Given the description of an element on the screen output the (x, y) to click on. 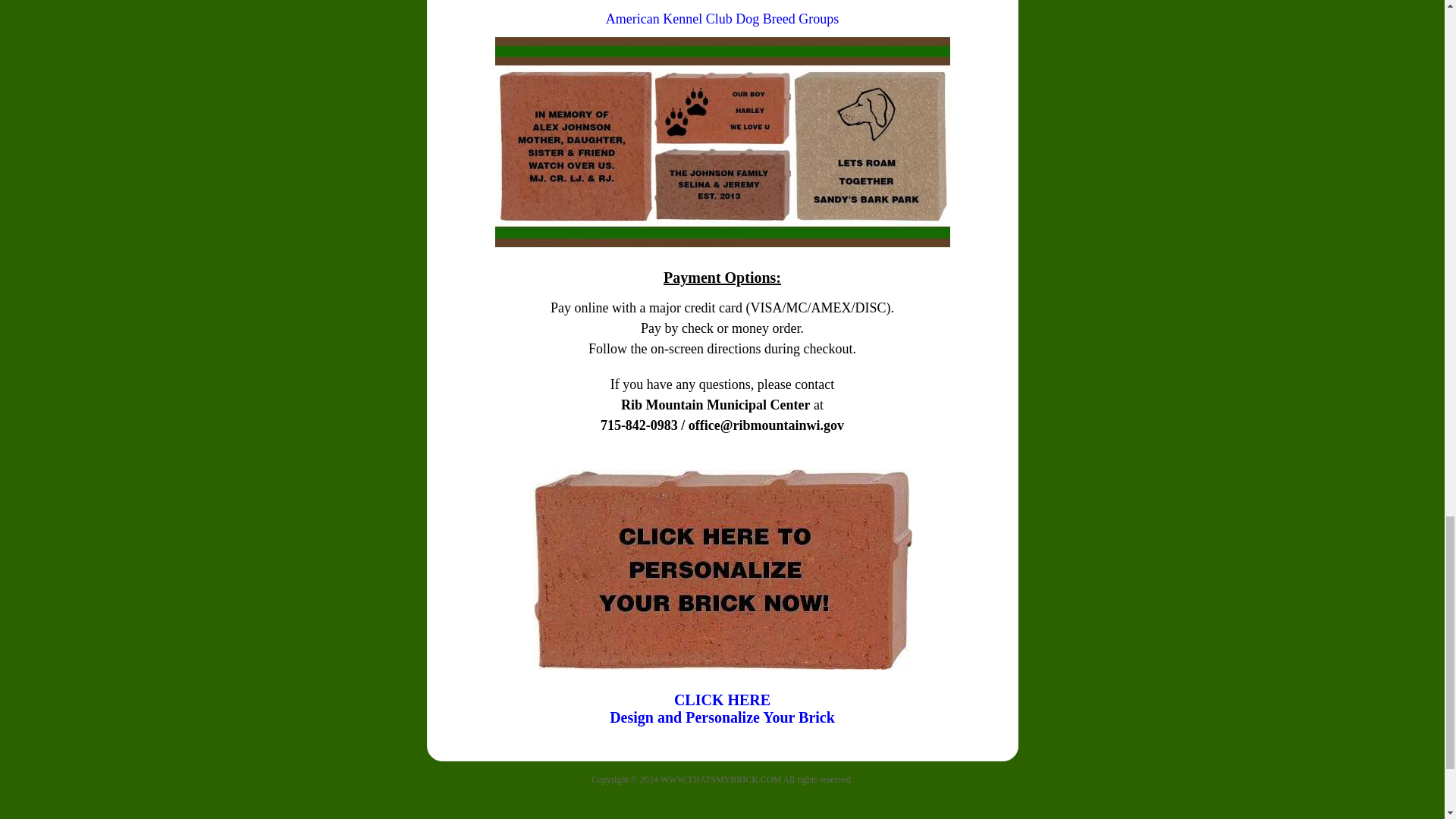
American Kennel Club Dog Breed Groups (721, 18)
Call to Action (722, 708)
